Given the description of an element on the screen output the (x, y) to click on. 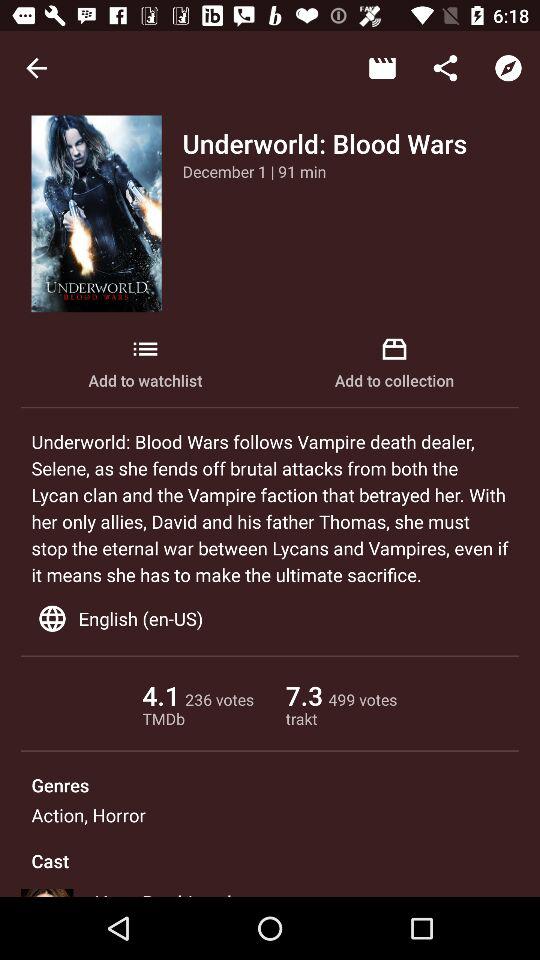
tap december 1 91 icon (254, 171)
